Given the description of an element on the screen output the (x, y) to click on. 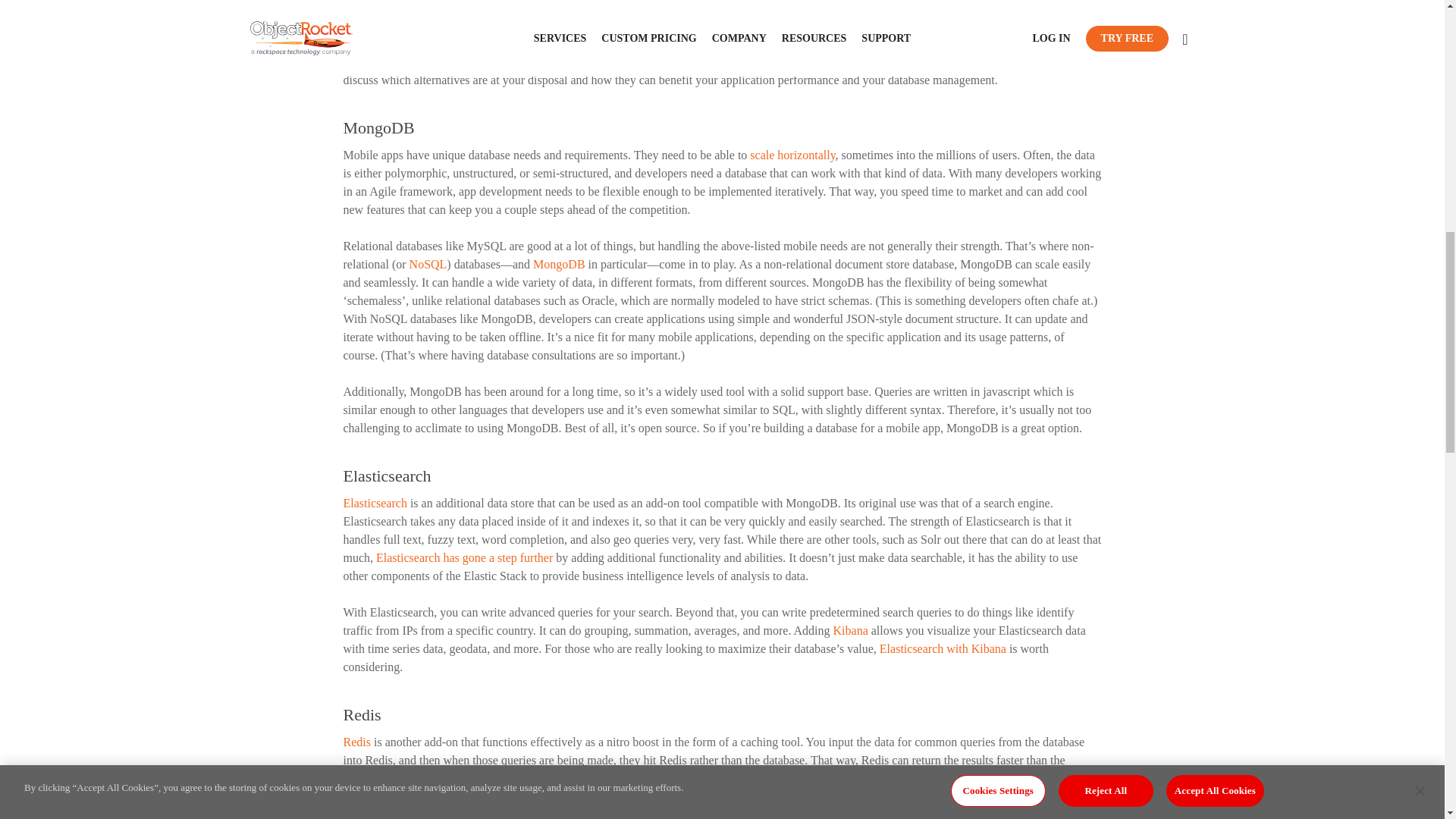
scale horizontally (791, 154)
MongoDB (557, 264)
NoSQL (427, 264)
Elasticsearch (374, 502)
Kibana (849, 630)
Elasticsearch has gone a step further (462, 557)
Elasticsearch with Kibana (942, 648)
